Given the description of an element on the screen output the (x, y) to click on. 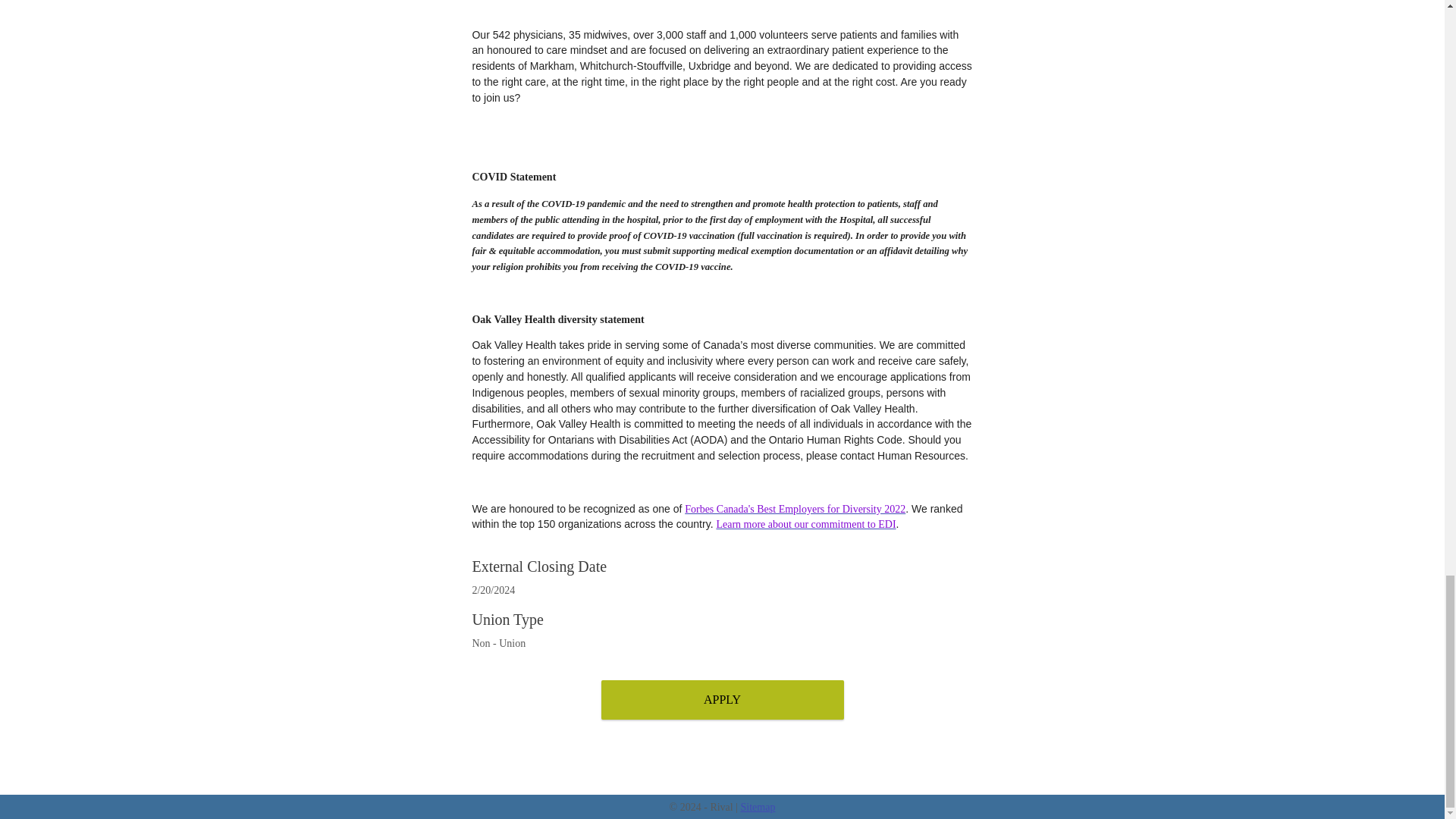
APPLY (721, 699)
Learn more about our commitment to EDI (805, 523)
Forbes Canada's Best Employers for Diversity 2022 (794, 509)
